Given the description of an element on the screen output the (x, y) to click on. 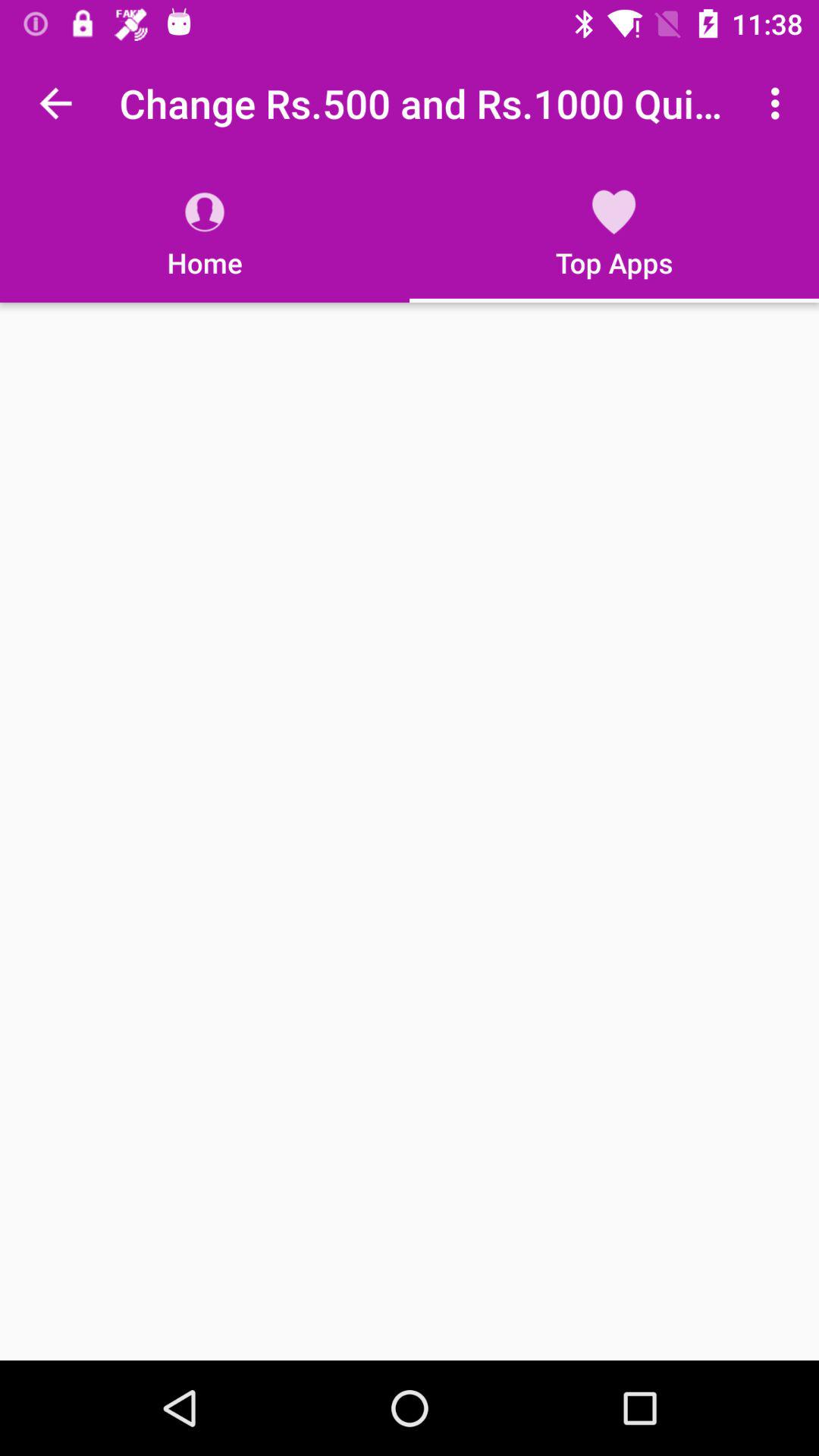
select the icon at the center (409, 831)
